Given the description of an element on the screen output the (x, y) to click on. 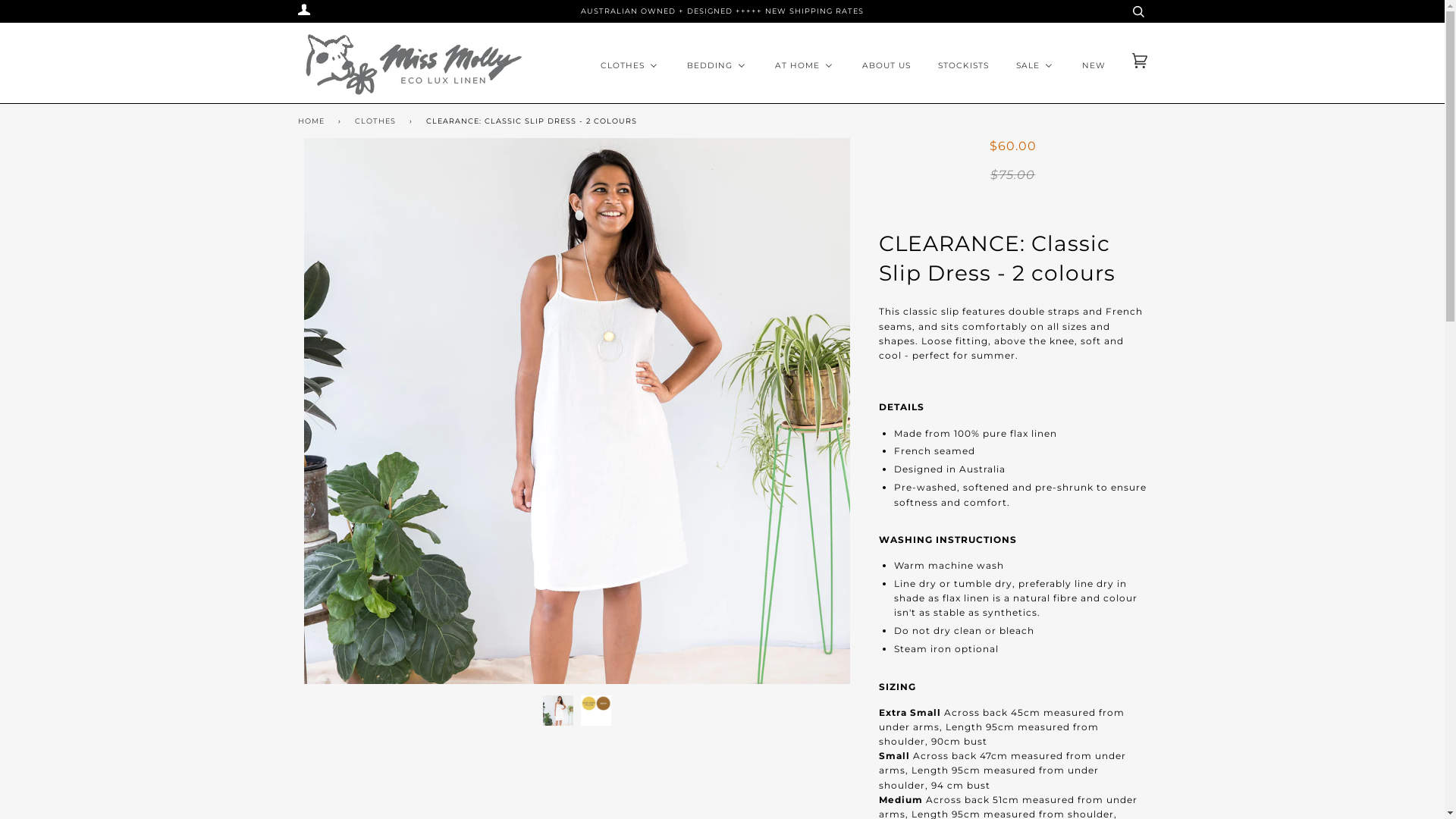
HOME Element type: text (313, 120)
CLOTHES Element type: text (629, 66)
ABOUT US Element type: text (884, 66)
SALE Element type: text (1034, 66)
Next Element type: text (828, 410)
BEDDING Element type: text (716, 66)
CLOTHES Element type: text (377, 120)
AUSTRALIAN OWNED + DESIGNED +++++ NEW SHIPPING RATES Element type: text (721, 10)
AT HOME Element type: text (803, 66)
STOCKISTS Element type: text (961, 66)
Previous Element type: text (322, 410)
NEW Element type: text (1092, 66)
